Given the description of an element on the screen output the (x, y) to click on. 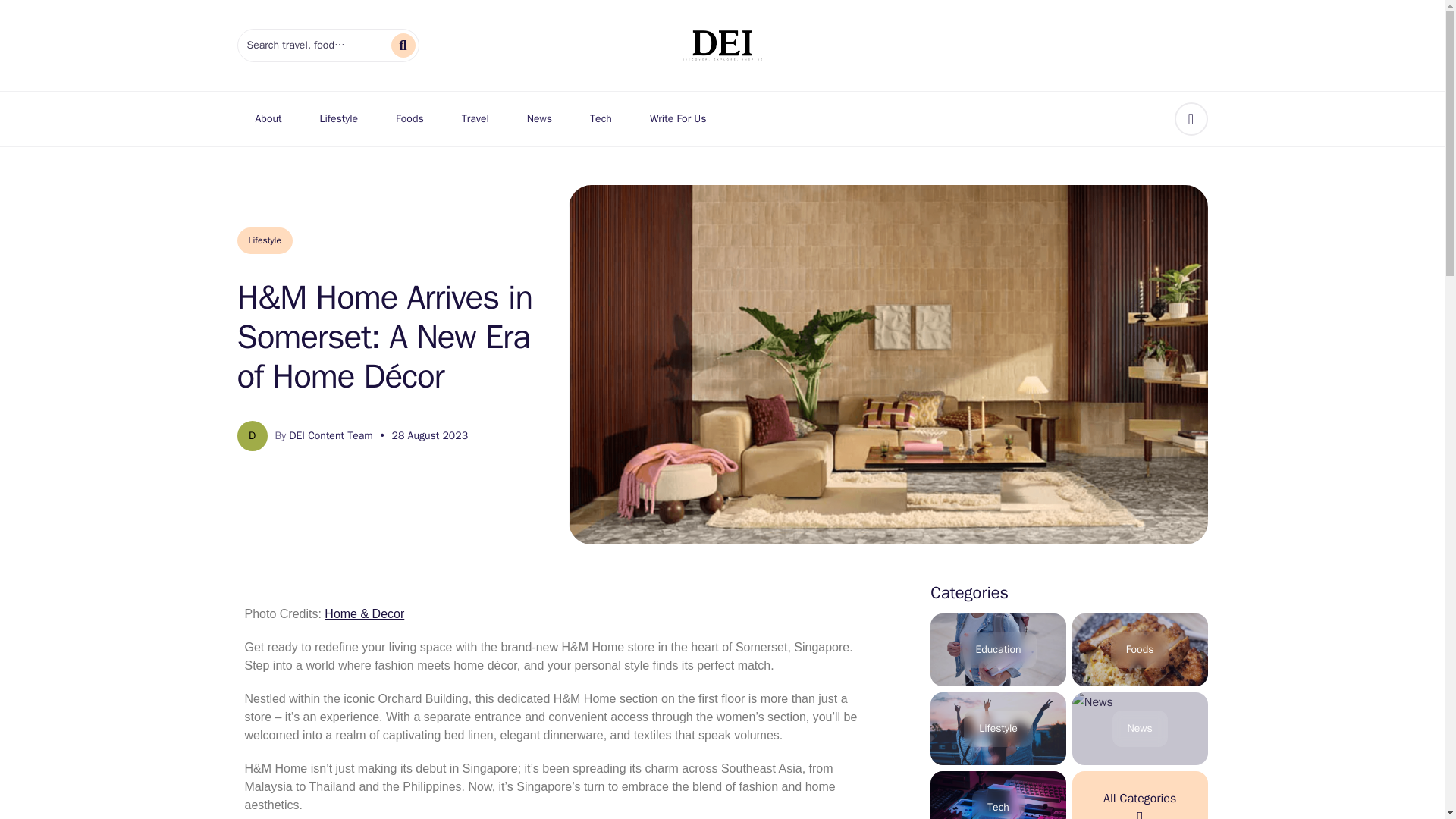
Foods (409, 118)
Write For Us (678, 118)
News (1139, 728)
Lifestyle (263, 240)
Foods (1139, 649)
Education (997, 649)
Travel (475, 118)
News (539, 118)
Tech (997, 795)
All Categories (1139, 795)
By DEI Content Team (323, 435)
Tech (601, 118)
Lifestyle (997, 728)
Lifestyle (338, 118)
About (267, 118)
